Given the description of an element on the screen output the (x, y) to click on. 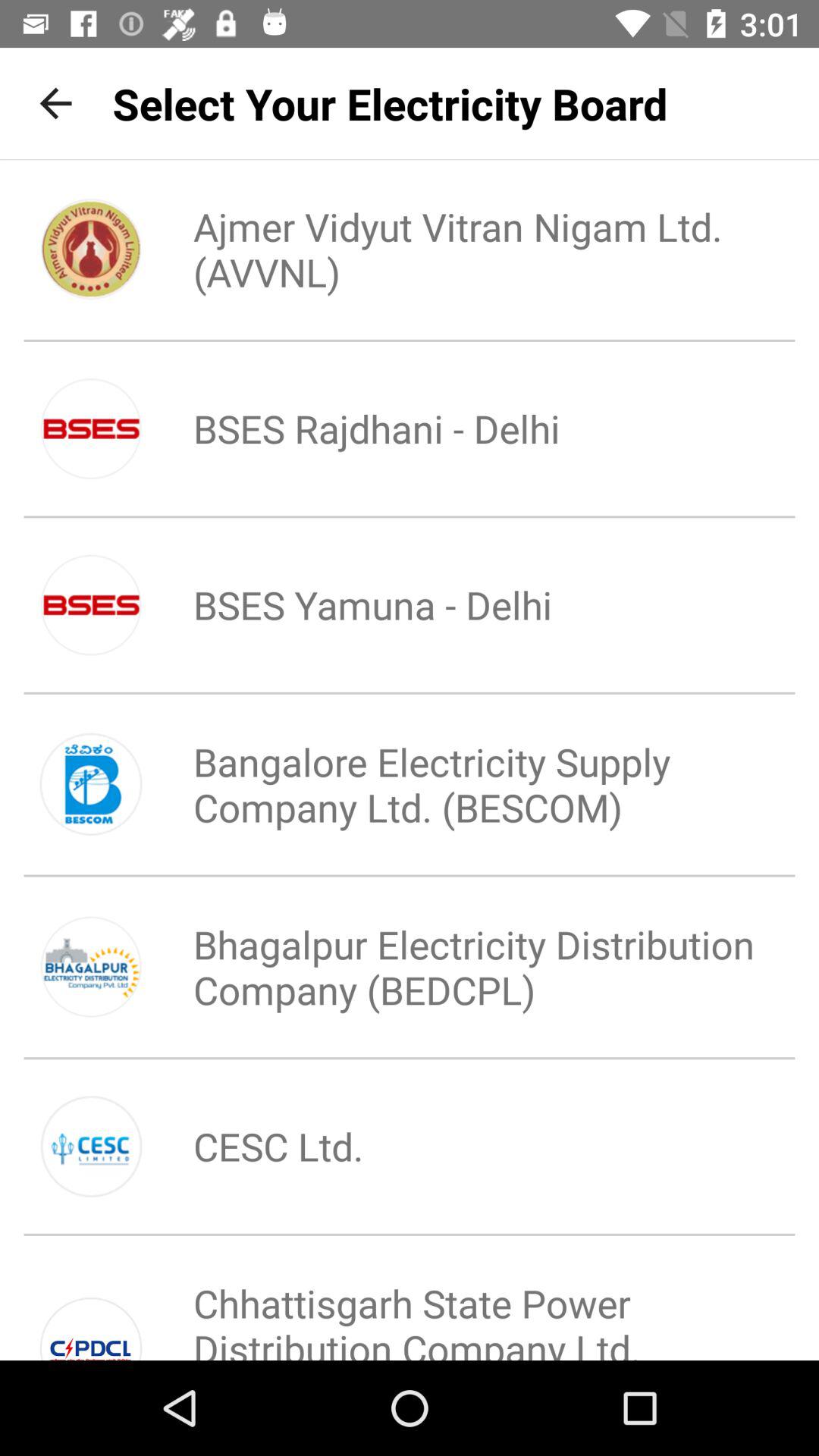
press the icon above chhattisgarh state power icon (252, 1145)
